Given the description of an element on the screen output the (x, y) to click on. 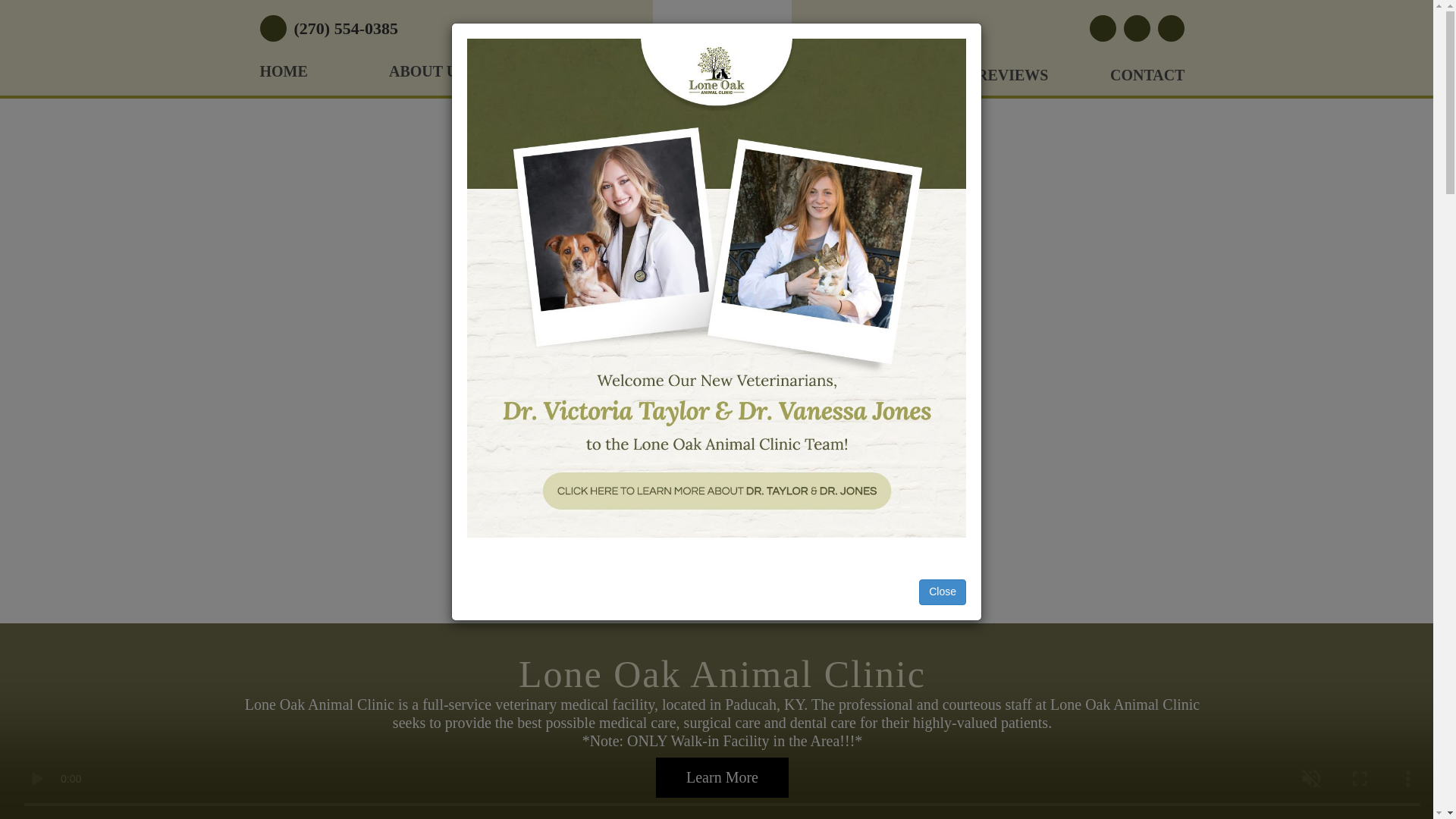
ABOUT US (426, 77)
REVIEWS (1012, 81)
Learn More (722, 777)
CONTACT (1147, 81)
SERVICES (584, 77)
HOME (283, 77)
RESOURCES (868, 81)
